Given the description of an element on the screen output the (x, y) to click on. 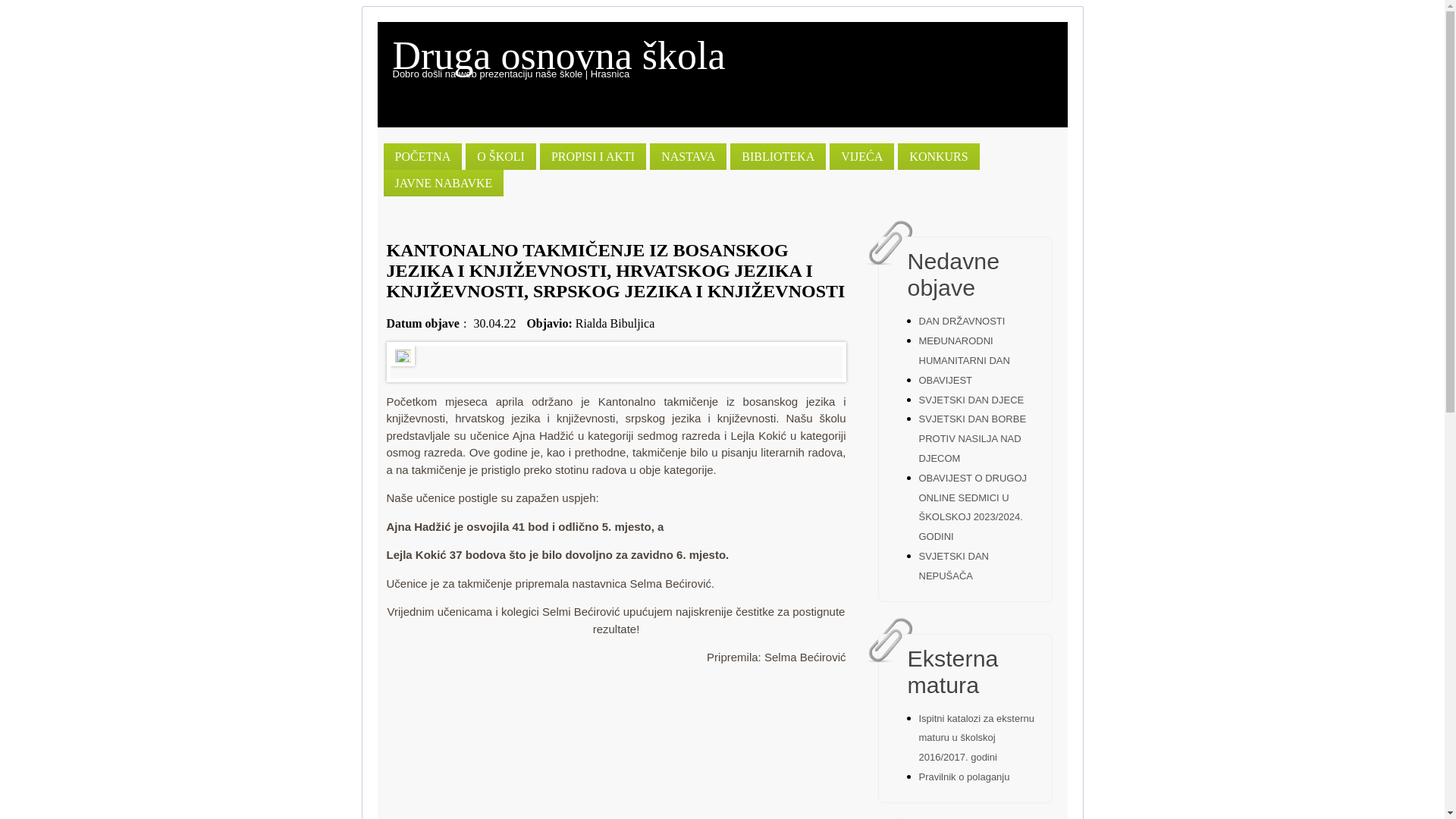
OBAVIJEST Element type: text (945, 379)
KONKURS Element type: text (938, 156)
NASTAVA Element type: text (687, 156)
SVJETSKI DAN DJECE Element type: text (971, 399)
Pravilnik o polaganju Element type: text (964, 776)
PROPISI I AKTI Element type: text (592, 156)
BIBLIOTEKA Element type: text (777, 156)
SVJETSKI DAN BORBE PROTIV NASILJA NAD DJECOM Element type: text (972, 438)
JAVNE NABAVKE Element type: text (443, 182)
